Given the description of an element on the screen output the (x, y) to click on. 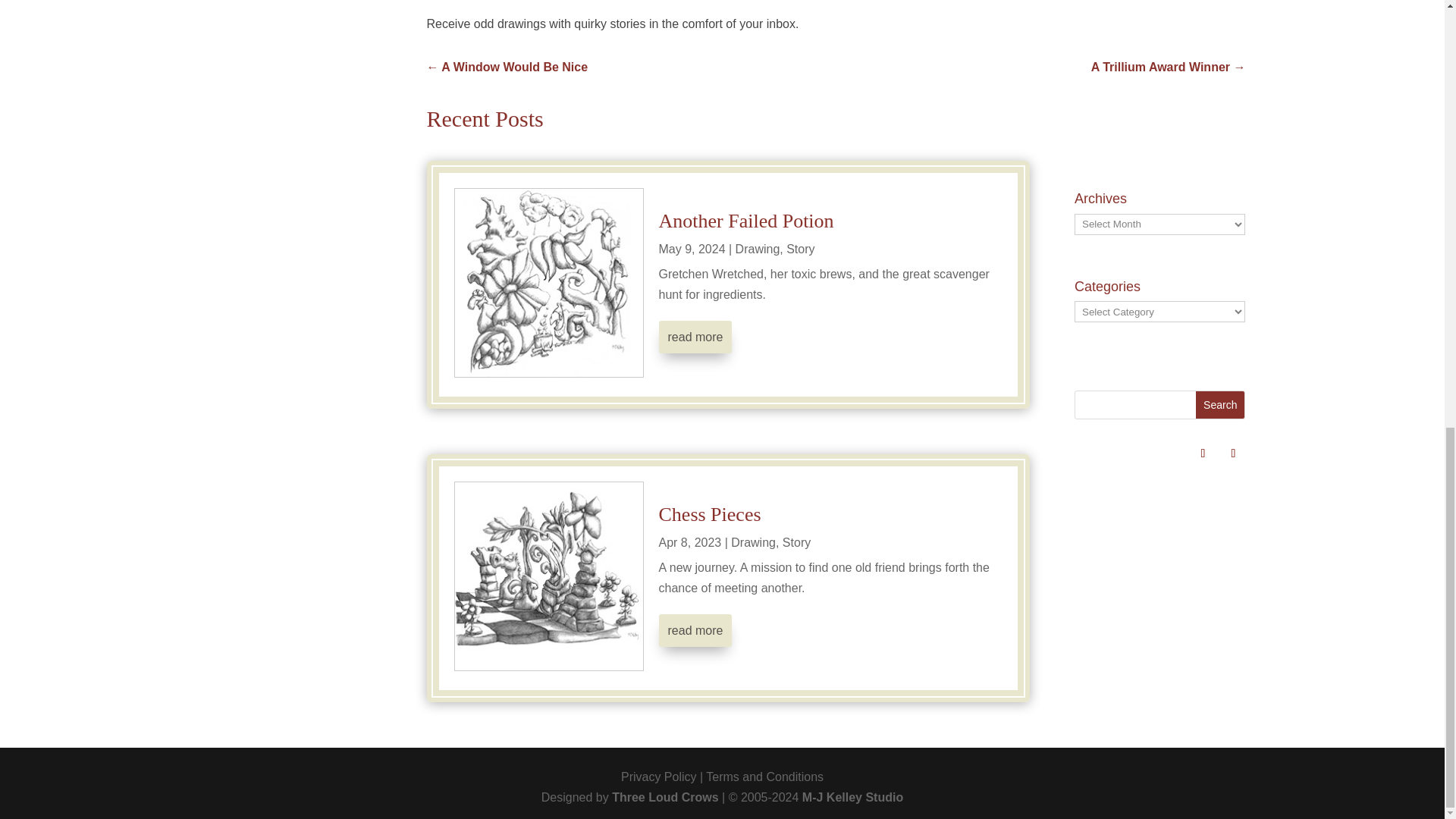
M-J Kelley Studio (852, 797)
Search (1219, 404)
Search (1219, 404)
Three Loud Crows (664, 797)
Follow on Facebook (1232, 453)
Privacy Policy (659, 776)
Follow on Instagram (1202, 453)
Terms and Conditions (765, 776)
